Given the description of an element on the screen output the (x, y) to click on. 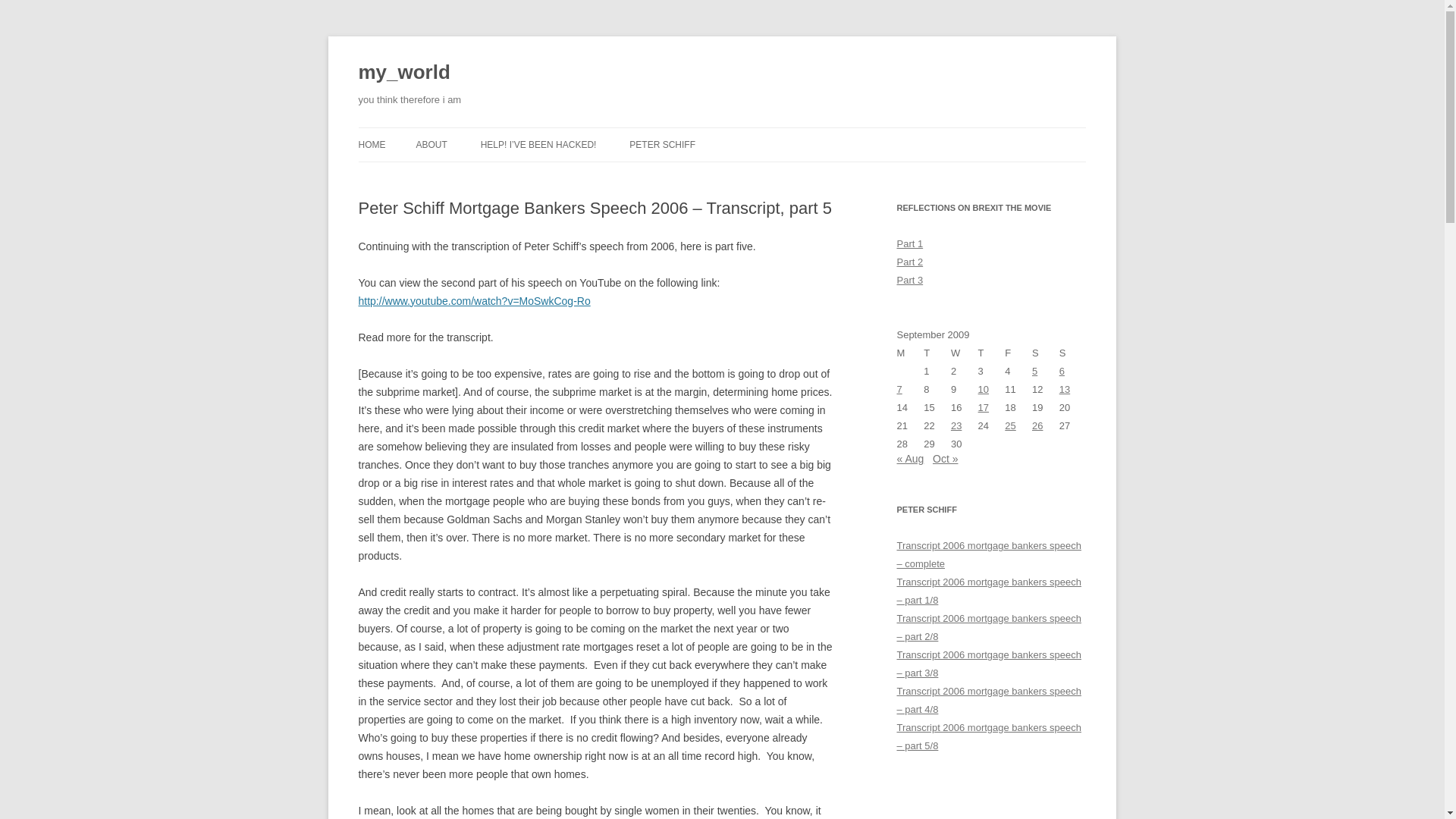
Part 2 (909, 261)
17 (983, 407)
26 (1037, 425)
Monday (909, 352)
Part 3 (909, 279)
Saturday (1045, 352)
Tuesday (936, 352)
ABOUT (430, 144)
Wednesday (964, 352)
10 (983, 389)
PETER SCHIFF (661, 144)
ASSESS THE DAMAGE (555, 176)
25 (1009, 425)
Part 1 (909, 243)
